Given the description of an element on the screen output the (x, y) to click on. 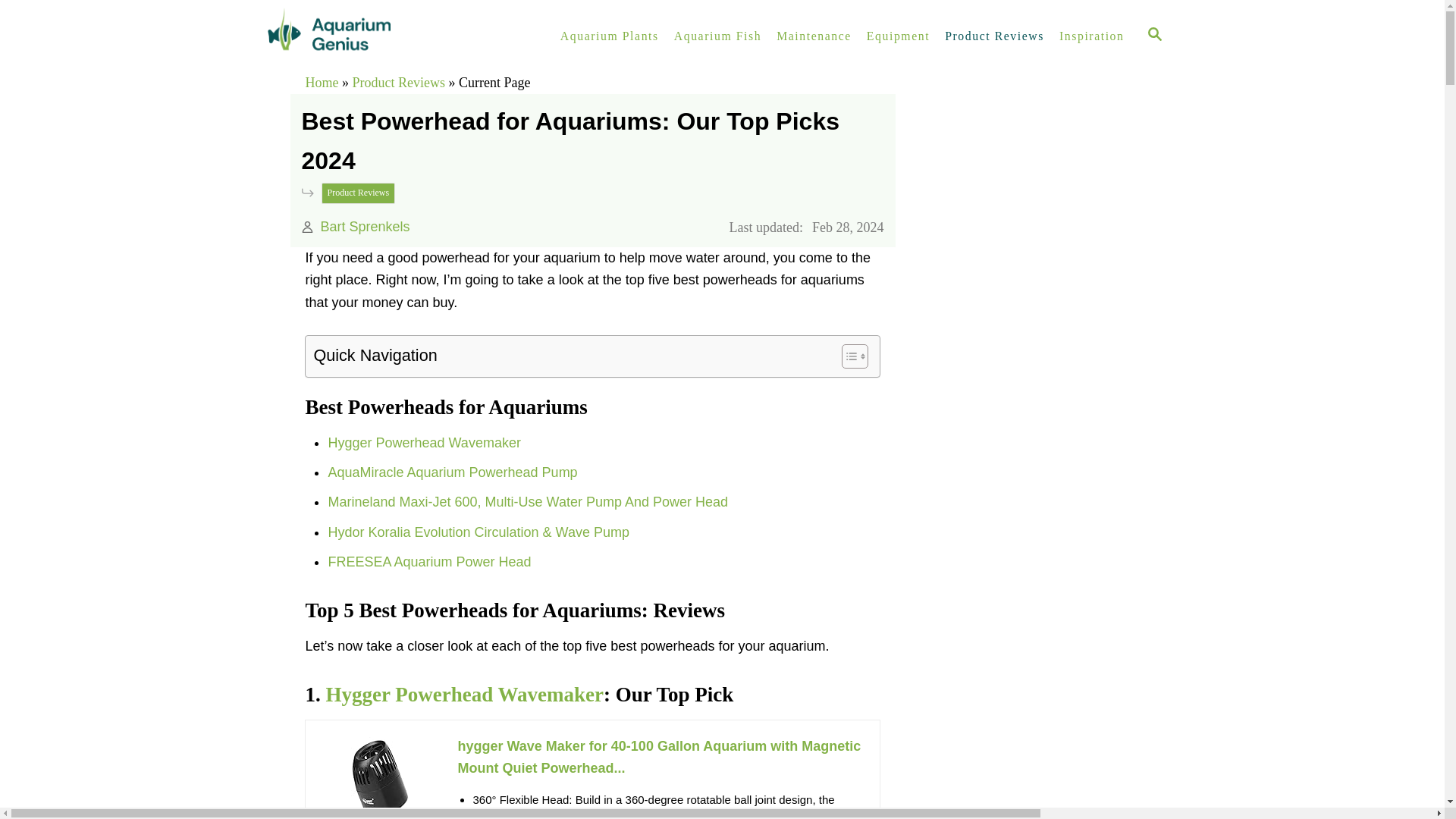
Aquarium Genius (394, 36)
Equipment (898, 36)
Aquarium Plants (609, 36)
Aquarium Fish (717, 36)
SEARCH (1154, 35)
Product Reviews (994, 36)
Maintenance (813, 36)
